Given the description of an element on the screen output the (x, y) to click on. 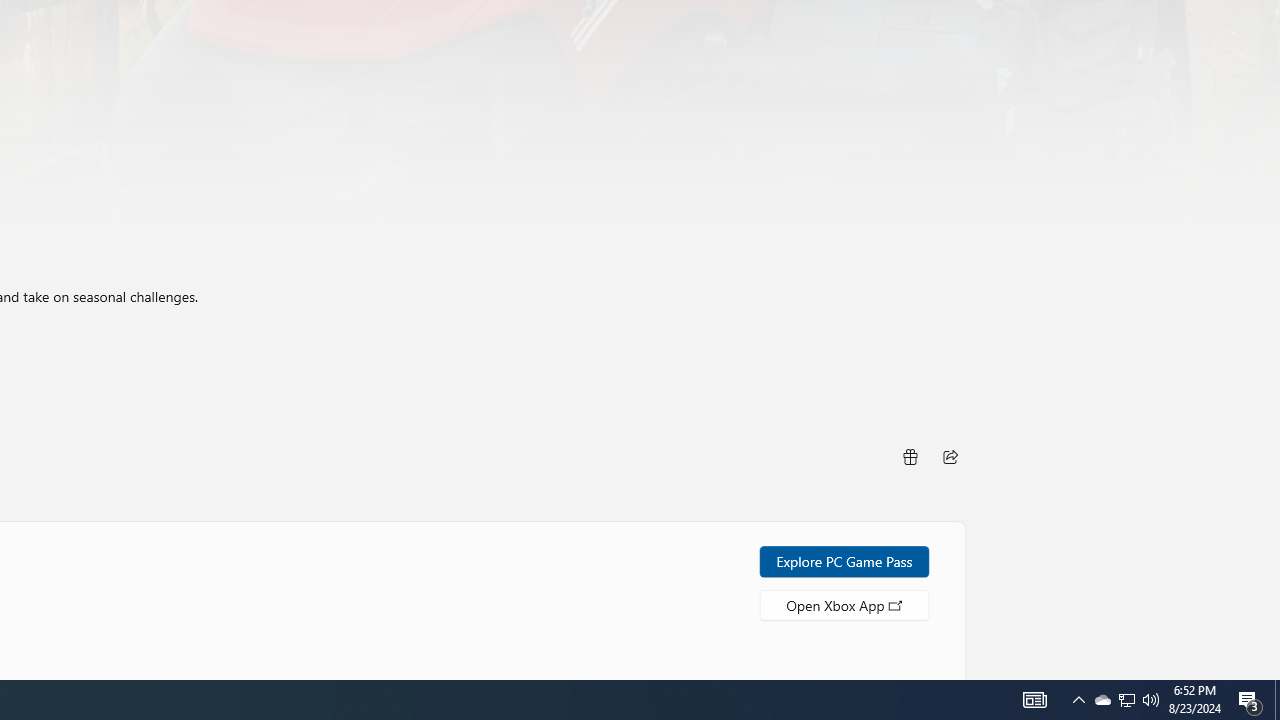
Buy as gift (909, 456)
Share (950, 456)
Open Xbox App (844, 603)
Explore PC Game Pass (844, 560)
